Given the description of an element on the screen output the (x, y) to click on. 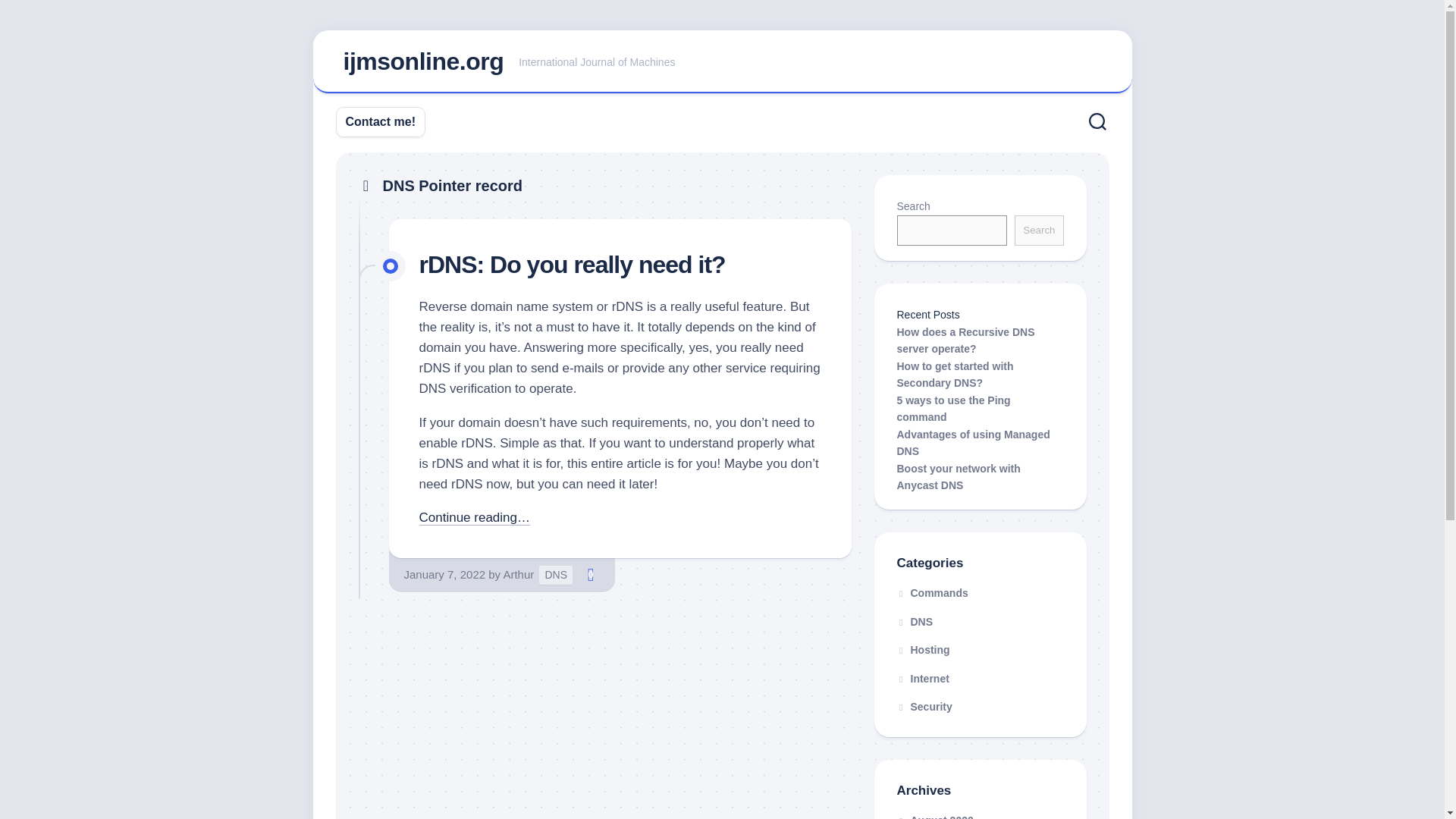
ijmsonline.org (422, 61)
August 2022 (934, 816)
Arthur (518, 574)
Advantages of using Managed DNS (972, 442)
0 (589, 574)
rDNS: Do you really need it? (572, 264)
Security (924, 706)
Commands (932, 592)
How does a Recursive DNS server operate? (964, 340)
Internet (922, 677)
